Given the description of an element on the screen output the (x, y) to click on. 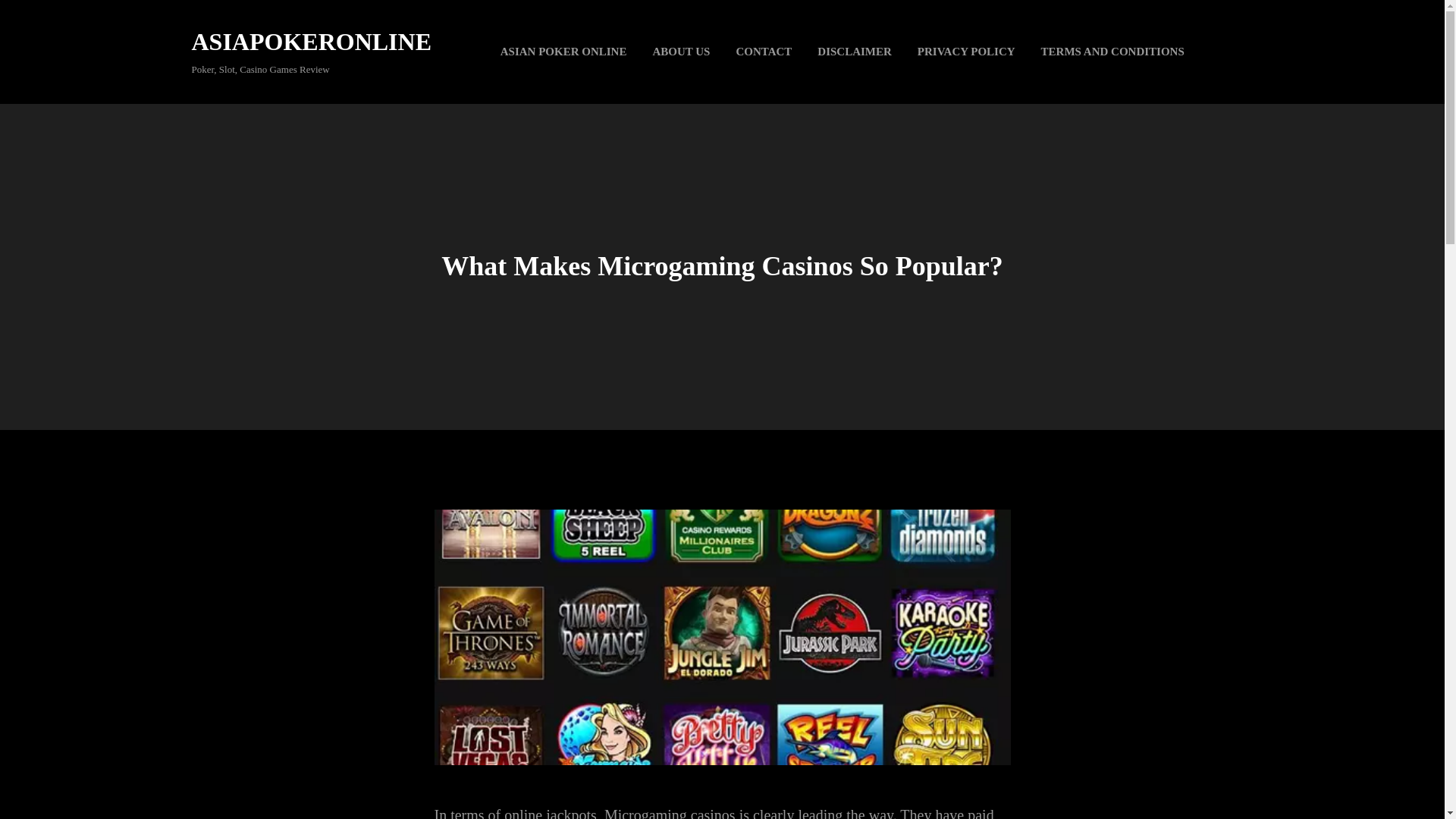
CONTACT (763, 51)
ASIAPOKERONLINE (310, 41)
TERMS AND CONDITIONS (1112, 51)
ASIAN POKER ONLINE (563, 51)
DISCLAIMER (854, 51)
PRIVACY POLICY (966, 51)
ABOUT US (680, 51)
